Given the description of an element on the screen output the (x, y) to click on. 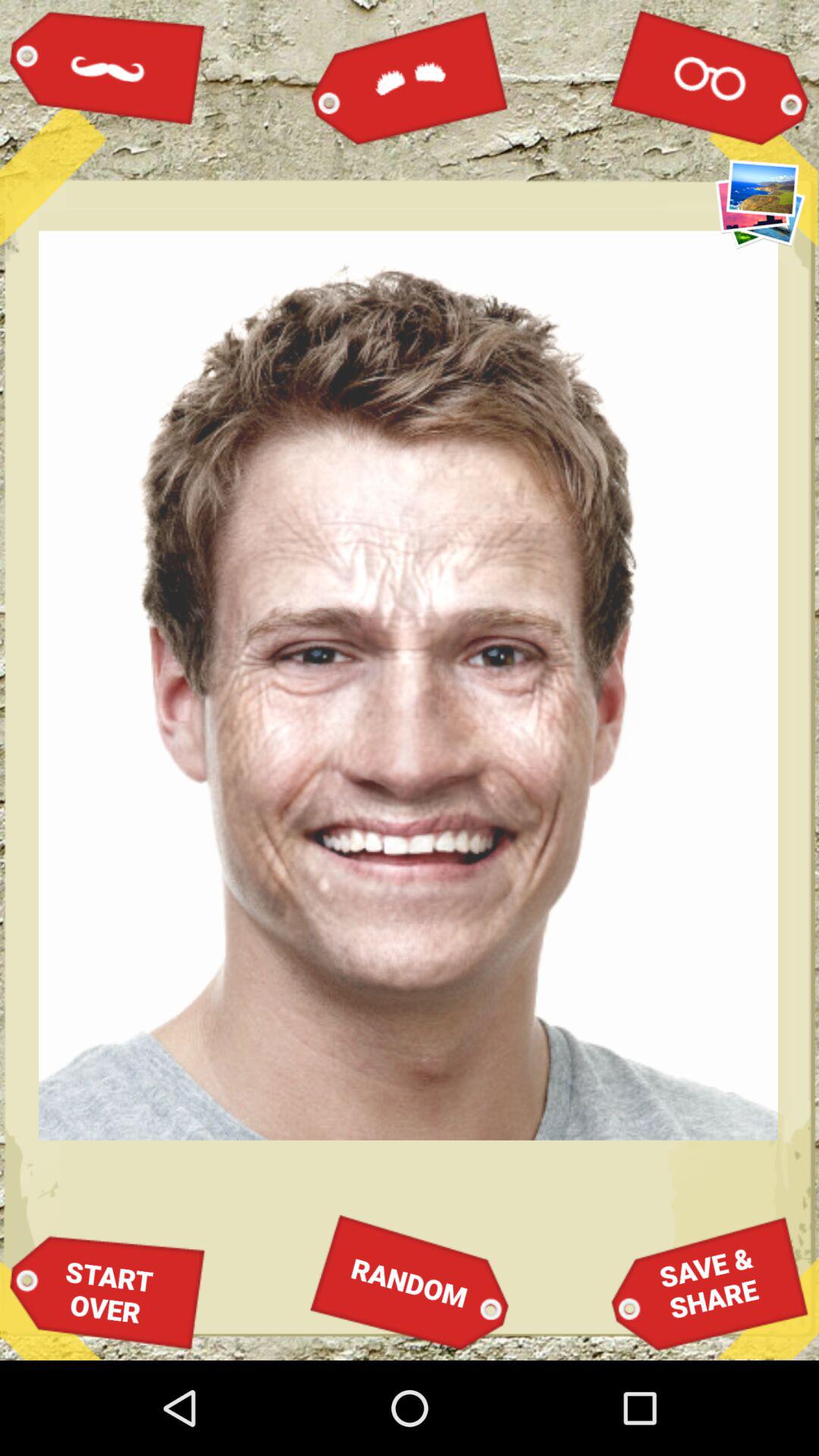
select start
over (107, 1292)
